Given the description of an element on the screen output the (x, y) to click on. 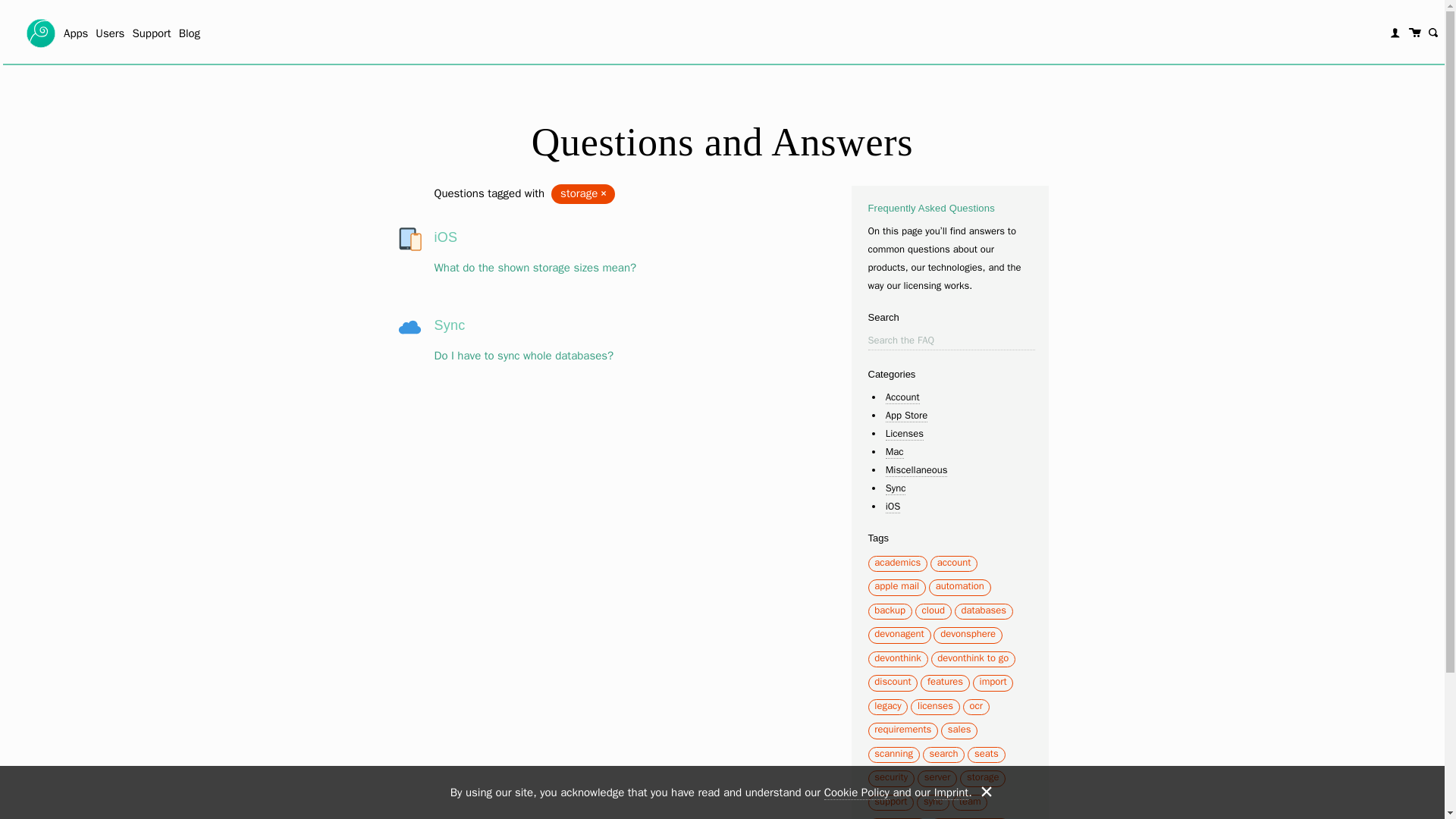
Sync (895, 488)
iOS (893, 506)
Account (902, 397)
account (954, 562)
cloud (932, 609)
Licenses (904, 433)
apple mail (896, 585)
Blog (189, 33)
backup (890, 609)
Mac (894, 451)
Miscellaneous (916, 469)
academics (897, 562)
databases (983, 609)
devonagent (899, 633)
App Store (906, 415)
